Given the description of an element on the screen output the (x, y) to click on. 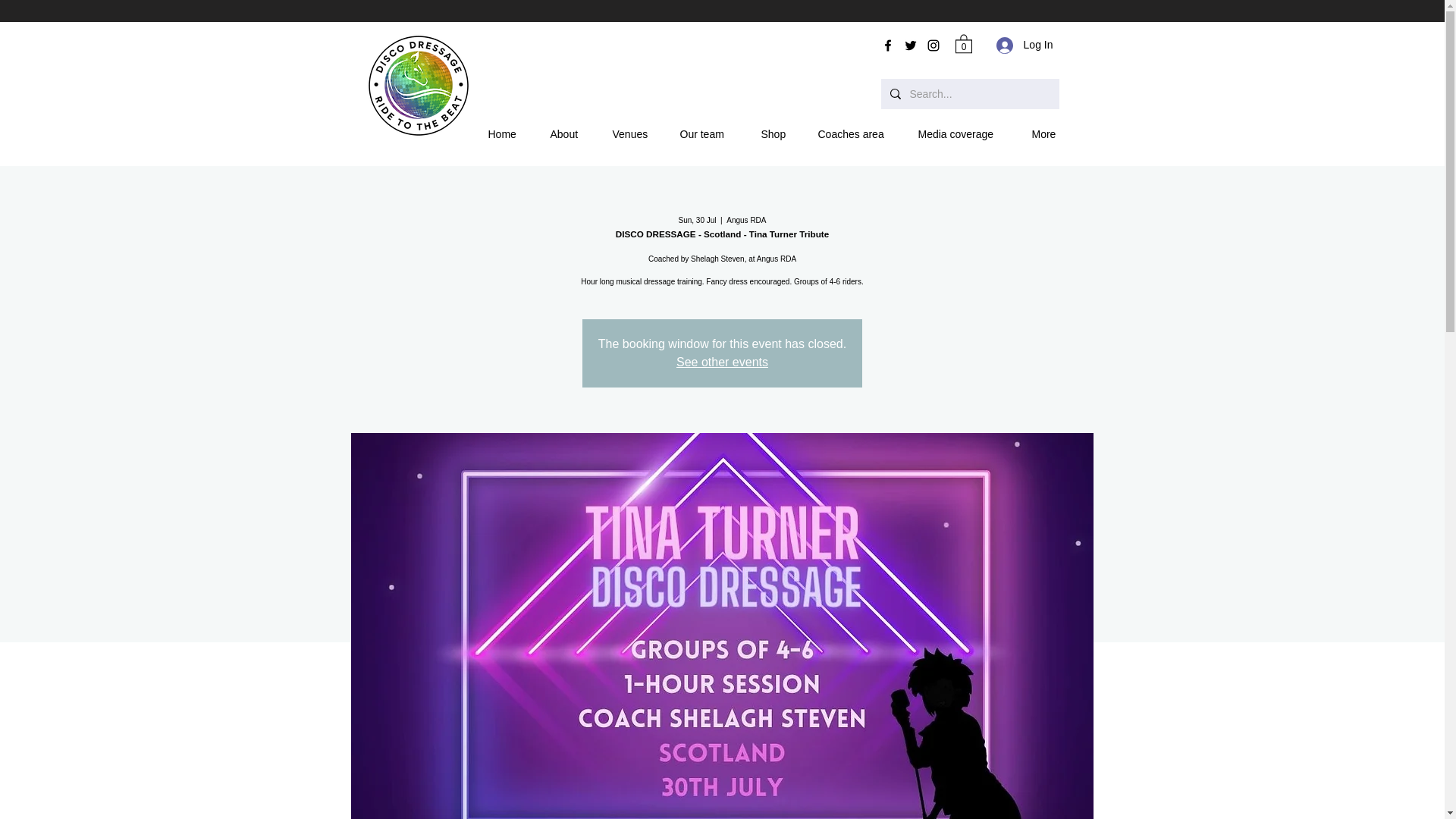
Shop (777, 134)
Our team (707, 134)
Log In (1024, 44)
Coaches area (855, 134)
Media coverage (962, 134)
About (568, 134)
Home (506, 134)
See other events (722, 361)
Venues (633, 134)
